Given the description of an element on the screen output the (x, y) to click on. 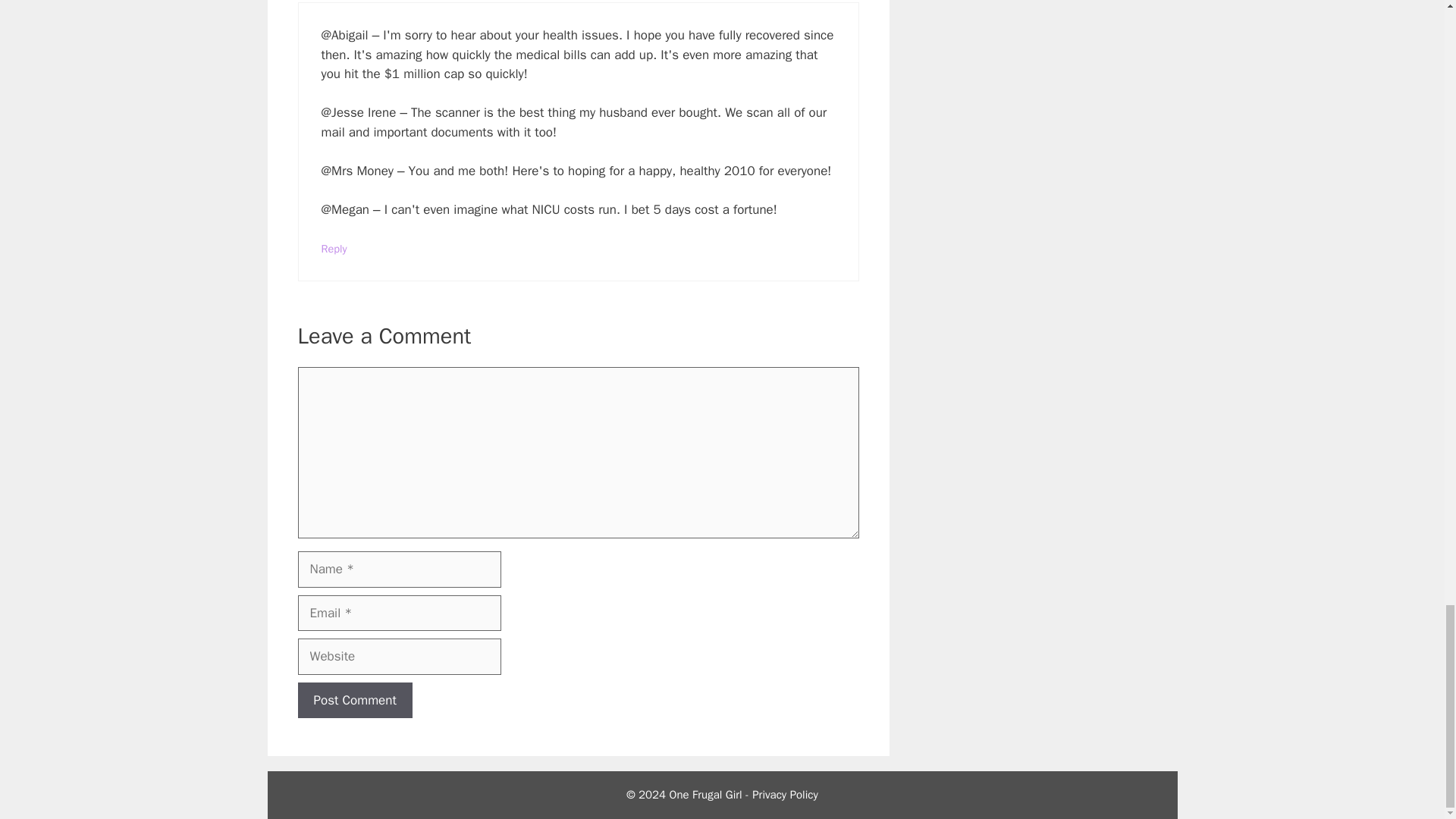
Post Comment (354, 700)
Post Comment (354, 700)
Reply (334, 248)
Privacy Policy (785, 794)
